Given the description of an element on the screen output the (x, y) to click on. 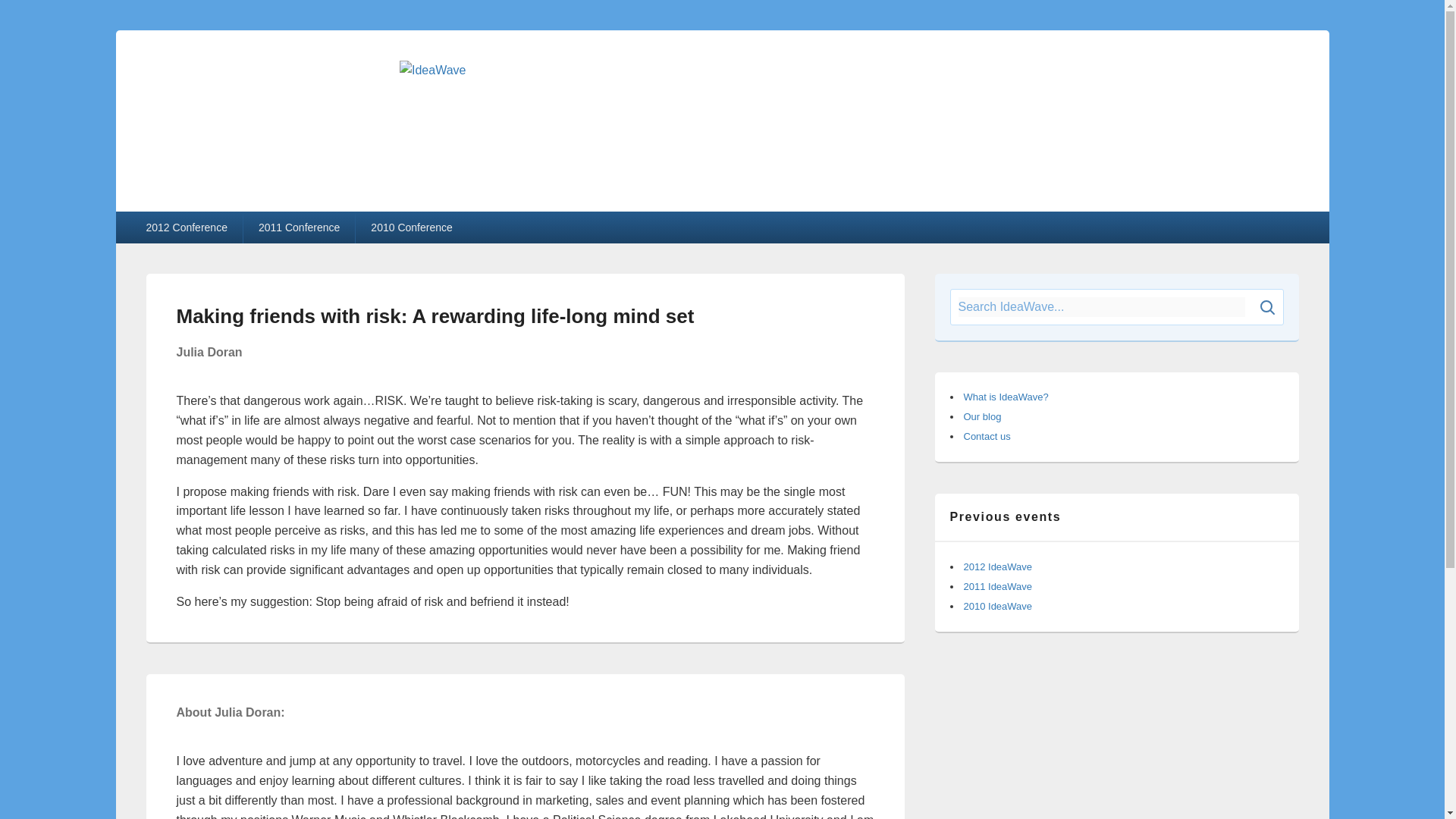
2011 Conference (299, 227)
2012 IdeaWave (997, 566)
2010 IdeaWave (997, 605)
2011 IdeaWave (997, 586)
Our blog (981, 416)
2012 Conference (186, 227)
What is IdeaWave? (1005, 396)
2010 Conference (411, 227)
Contact us (986, 436)
